Given the description of an element on the screen output the (x, y) to click on. 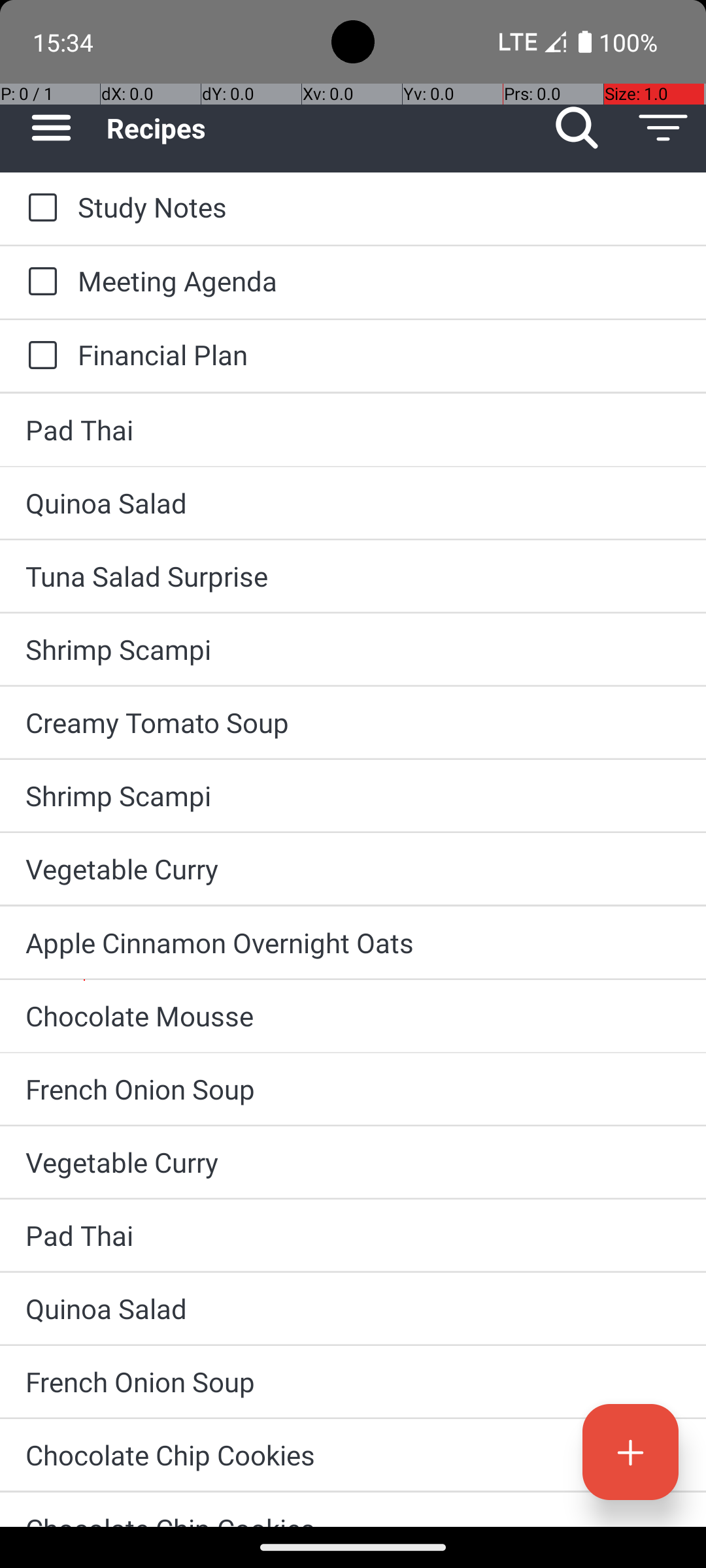
to-do: Study Notes Element type: android.widget.CheckBox (38, 208)
Study Notes Element type: android.widget.TextView (378, 206)
to-do: Meeting Agenda Element type: android.widget.CheckBox (38, 282)
Meeting Agenda Element type: android.widget.TextView (378, 280)
to-do: Financial Plan Element type: android.widget.CheckBox (38, 356)
Financial Plan Element type: android.widget.TextView (378, 354)
Pad Thai Element type: android.widget.TextView (352, 429)
Quinoa Salad Element type: android.widget.TextView (352, 502)
Tuna Salad Surprise Element type: android.widget.TextView (352, 575)
Shrimp Scampi Element type: android.widget.TextView (352, 648)
Creamy Tomato Soup Element type: android.widget.TextView (352, 721)
Vegetable Curry Element type: android.widget.TextView (352, 868)
Apple Cinnamon Overnight Oats Element type: android.widget.TextView (352, 942)
Chocolate Mousse Element type: android.widget.TextView (352, 1015)
French Onion Soup Element type: android.widget.TextView (352, 1088)
Chocolate Chip Cookies Element type: android.widget.TextView (352, 1454)
